Given the description of an element on the screen output the (x, y) to click on. 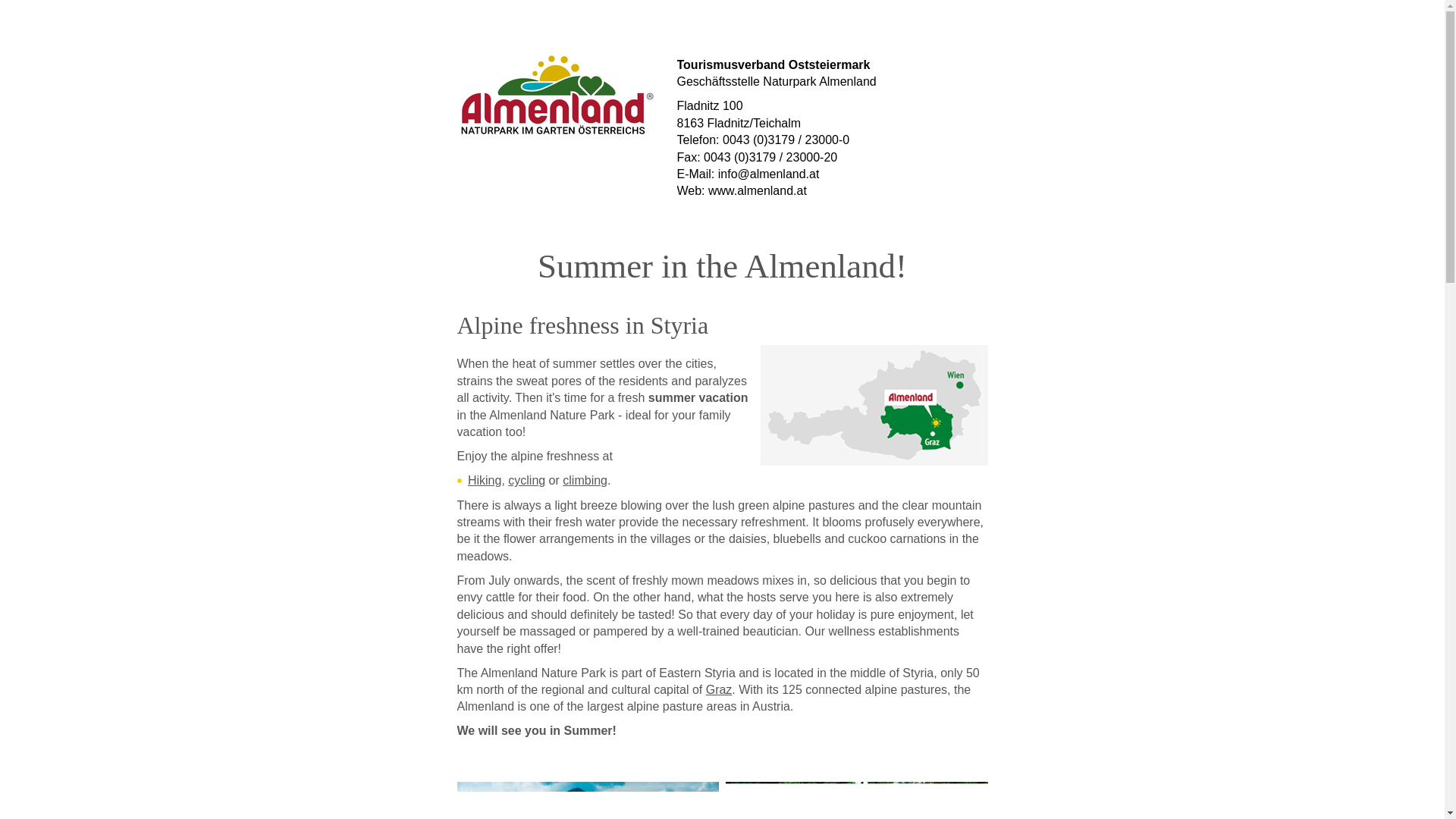
Graz (719, 689)
More about Graz (719, 689)
Hiking (483, 480)
cycling (526, 480)
climbing (584, 480)
More about cycling (526, 480)
More about climbing (584, 480)
More about hiking (483, 480)
